Given the description of an element on the screen output the (x, y) to click on. 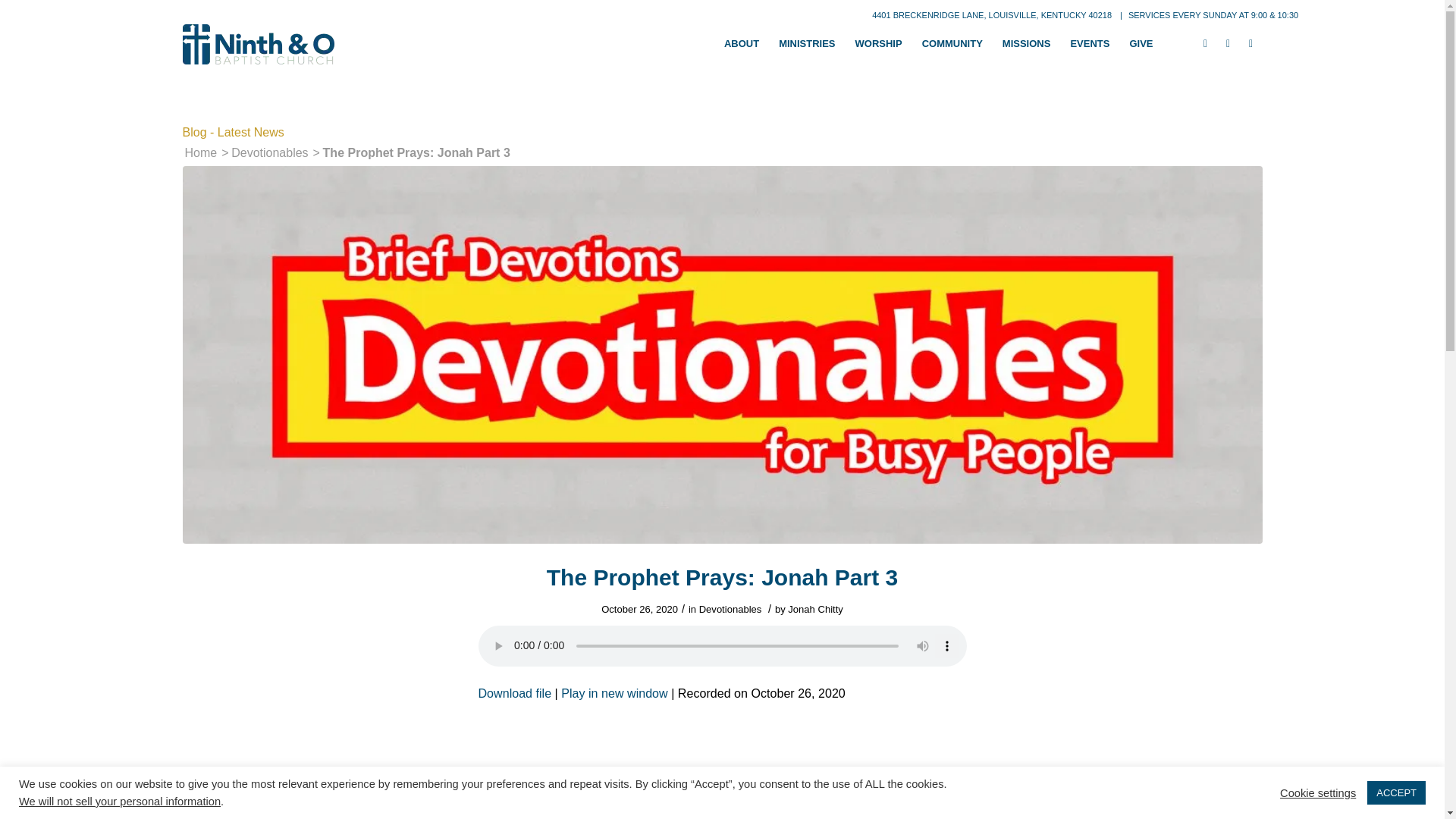
Vimeo (1227, 42)
Youtube (1250, 42)
blue-logo (257, 44)
Facebook (1204, 42)
The Prophet Prays: Jonah Part 3  (613, 693)
Posts by Jonah Chitty (815, 609)
Permanent Link: Blog - Latest News (232, 132)
COMMUNITY (952, 43)
The Prophet Prays: Jonah Part 3  (514, 693)
